Given the description of an element on the screen output the (x, y) to click on. 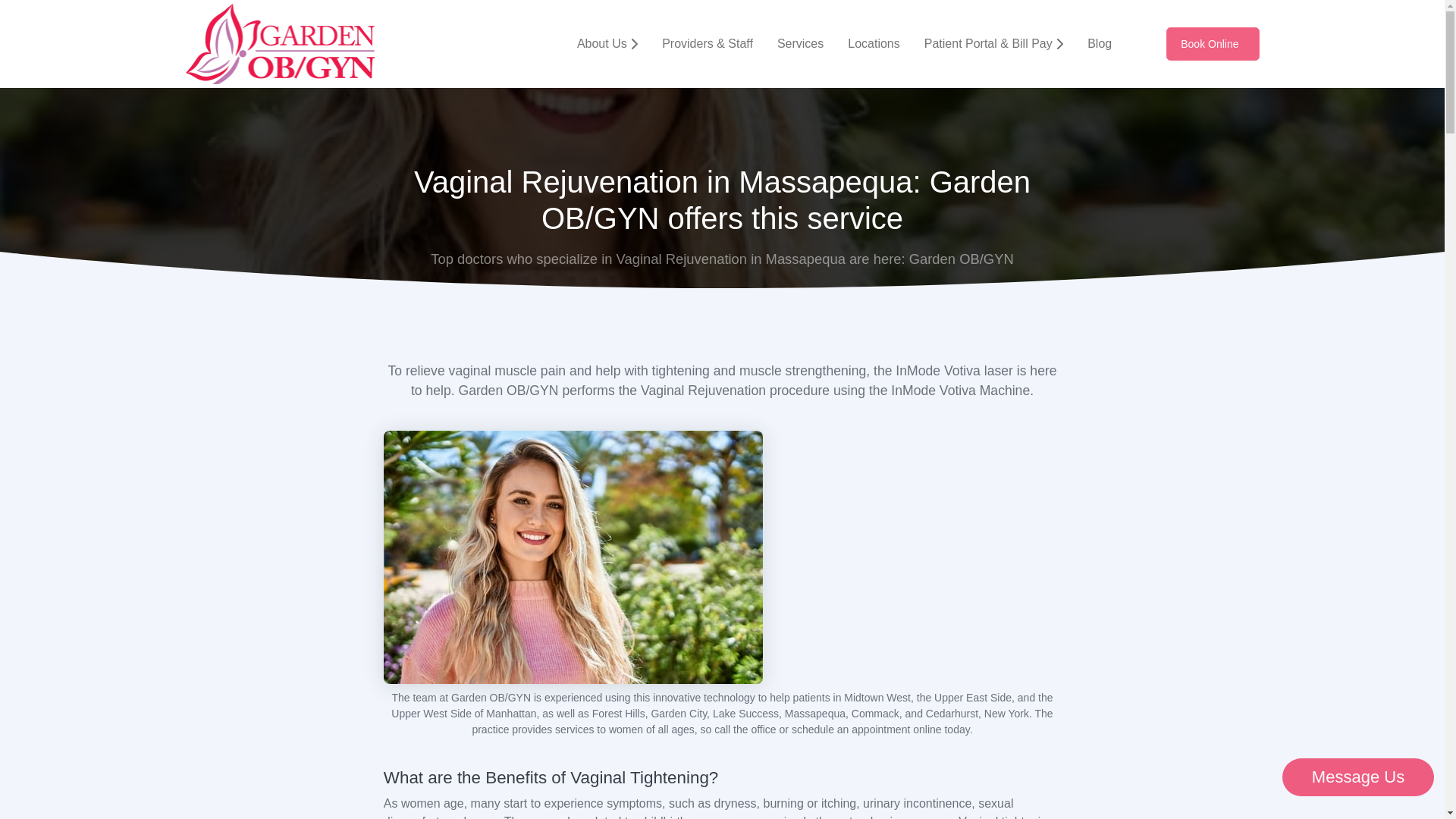
Book Online (1212, 43)
Blog (1099, 43)
Locations (873, 43)
Services (800, 43)
About Us  (606, 43)
